Given the description of an element on the screen output the (x, y) to click on. 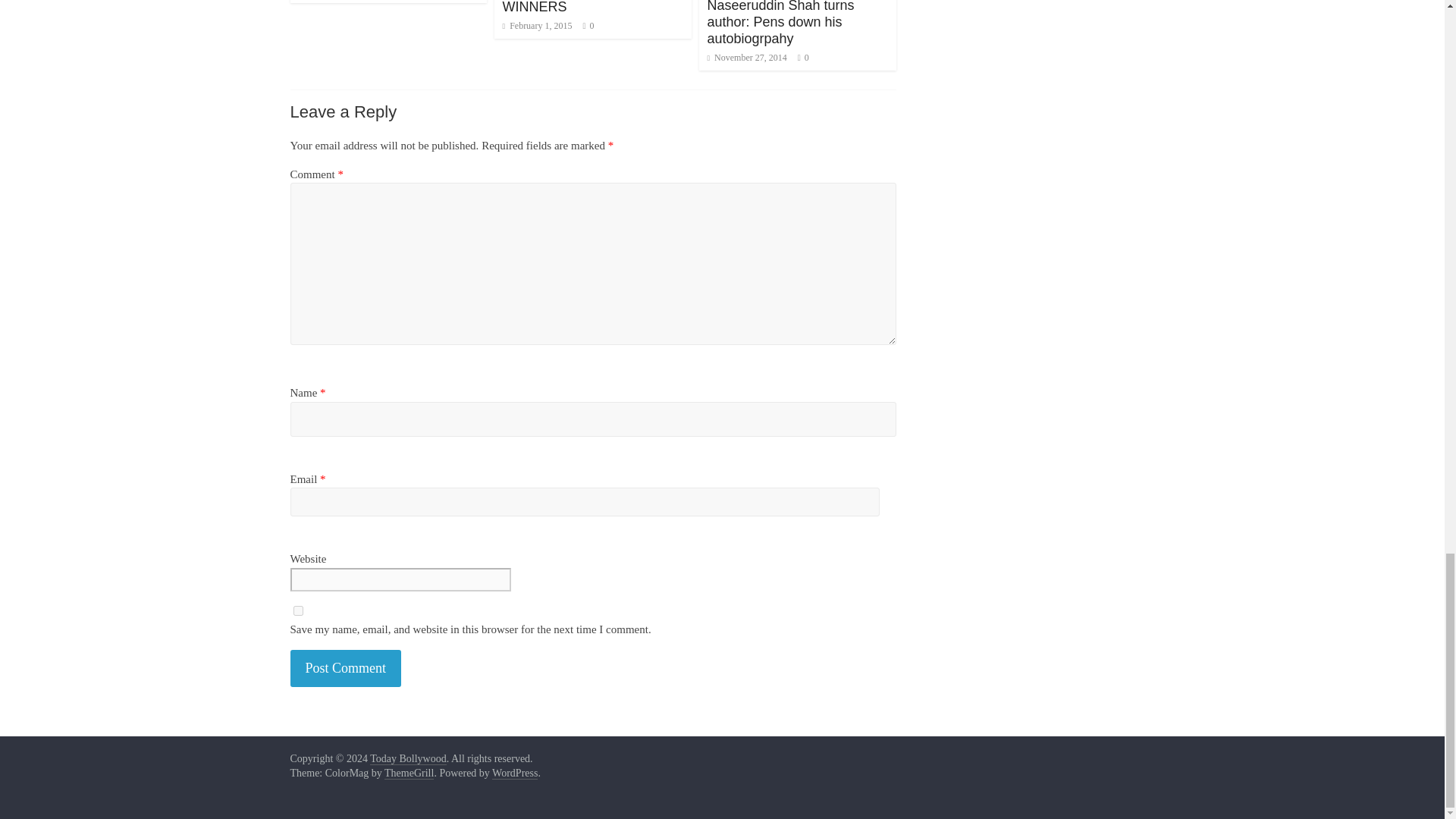
Naseeruddin Shah turns author: Pens down his autobiogrpahy (779, 22)
Post Comment (345, 668)
THE COMPLETE LIST OF 60TH FILMFARE AWARDS WINNERS (585, 6)
February 1, 2015 (537, 25)
yes (297, 610)
THE COMPLETE LIST OF 60TH FILMFARE AWARDS WINNERS (585, 6)
8:16 am (746, 57)
Naseeruddin Shah turns author: Pens down his autobiogrpahy (779, 22)
November 27, 2014 (746, 57)
11:46 am (537, 25)
